Given the description of an element on the screen output the (x, y) to click on. 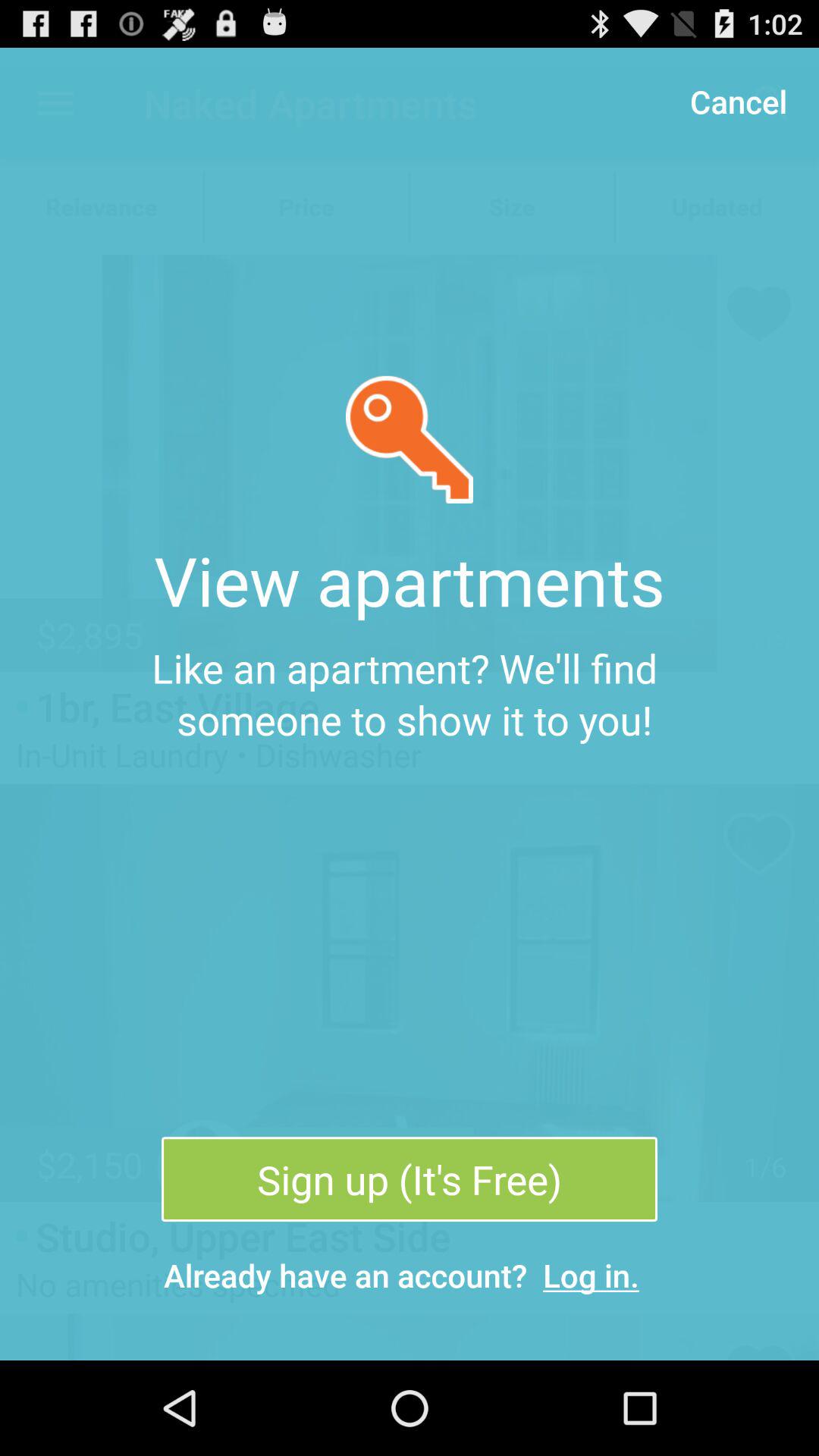
choose the cancel icon (738, 100)
